Given the description of an element on the screen output the (x, y) to click on. 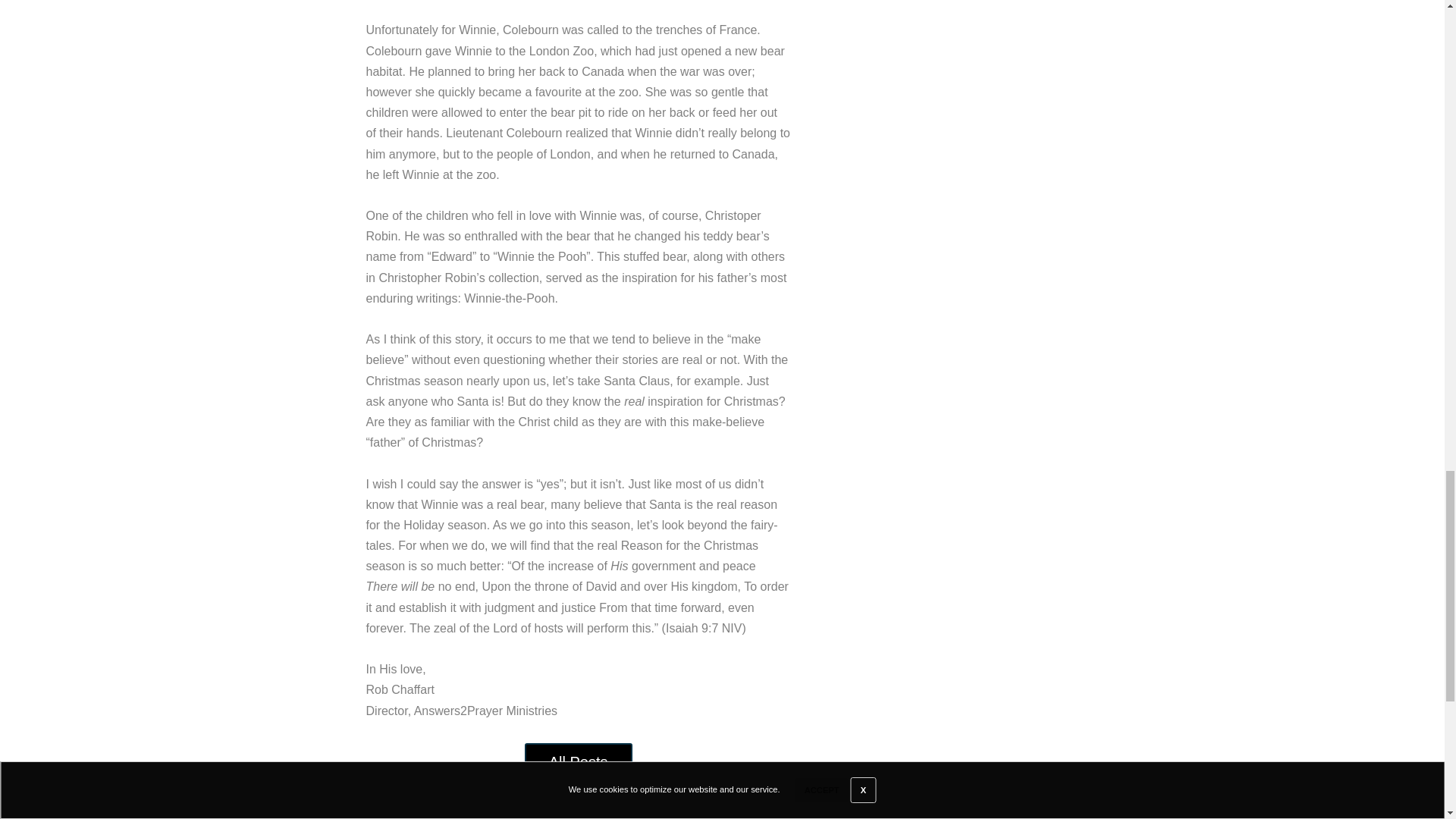
All Posts (577, 761)
